Given the description of an element on the screen output the (x, y) to click on. 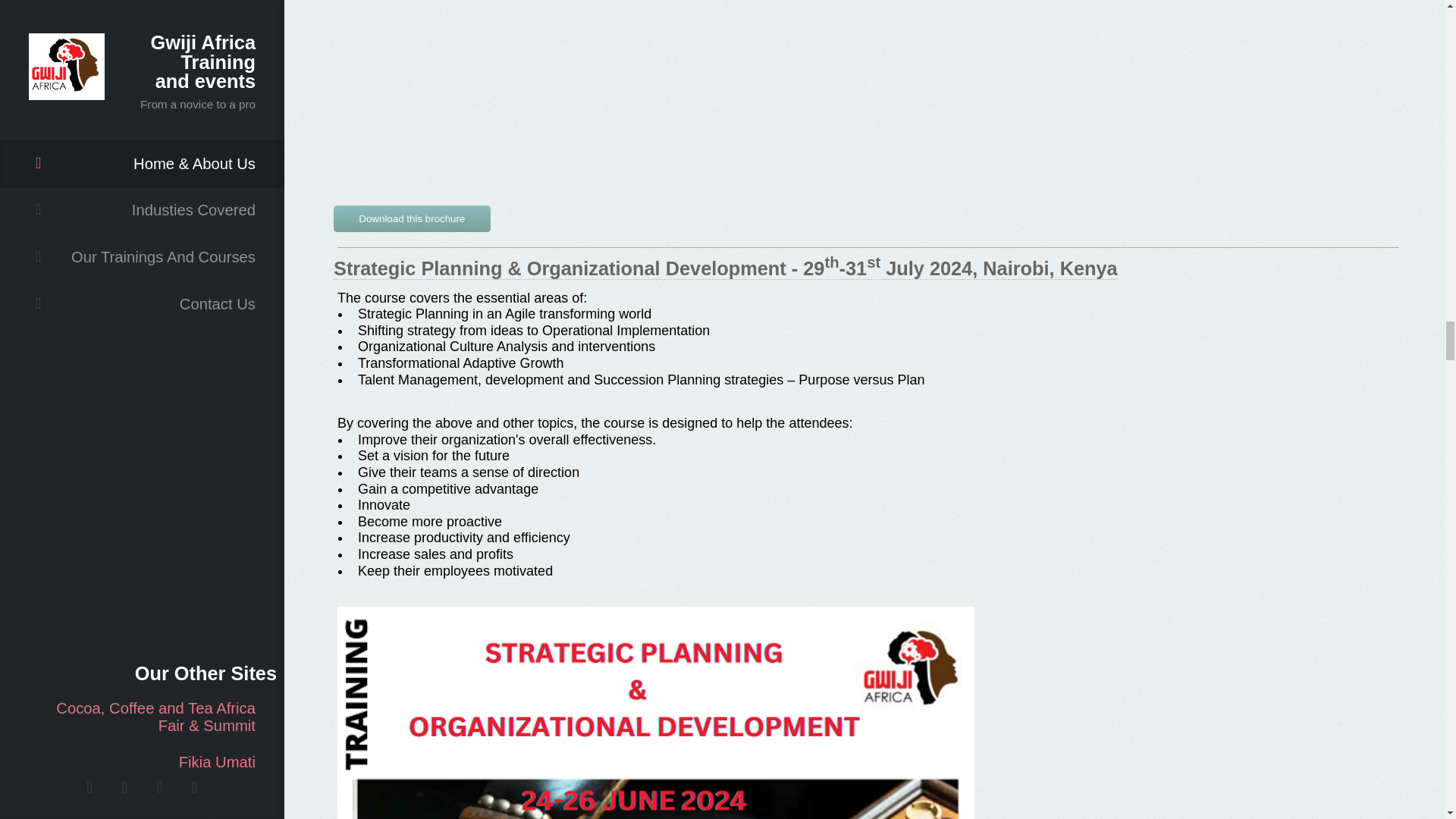
Download this brochure (411, 215)
Download this brochure (411, 218)
